Given the description of an element on the screen output the (x, y) to click on. 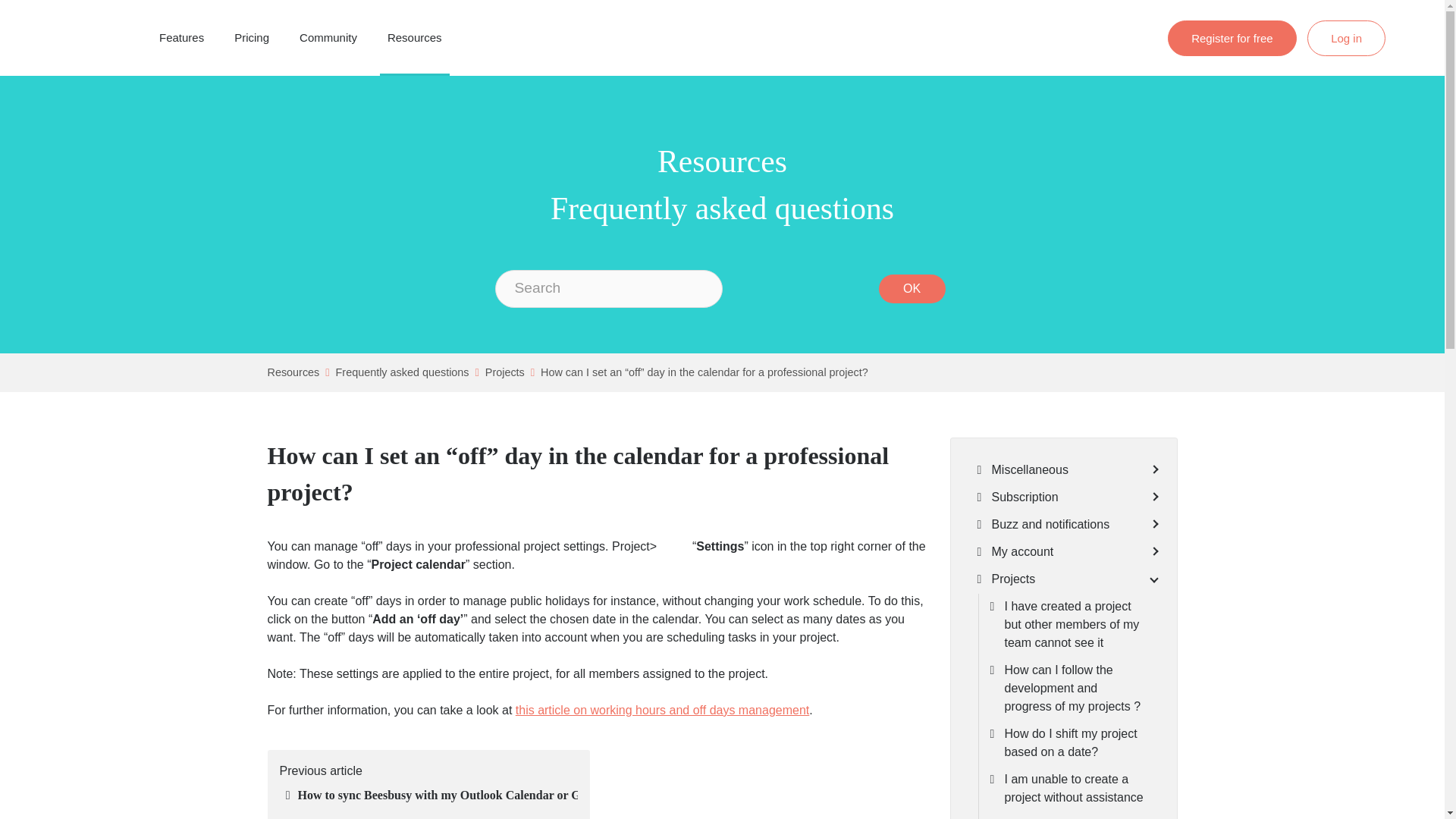
OK (910, 288)
Community (327, 38)
this article on working hours and off days management (662, 709)
I am unable to create a project without assistance (1074, 788)
Resources (414, 38)
Frequently asked questions (402, 372)
Features (181, 38)
